Given the description of an element on the screen output the (x, y) to click on. 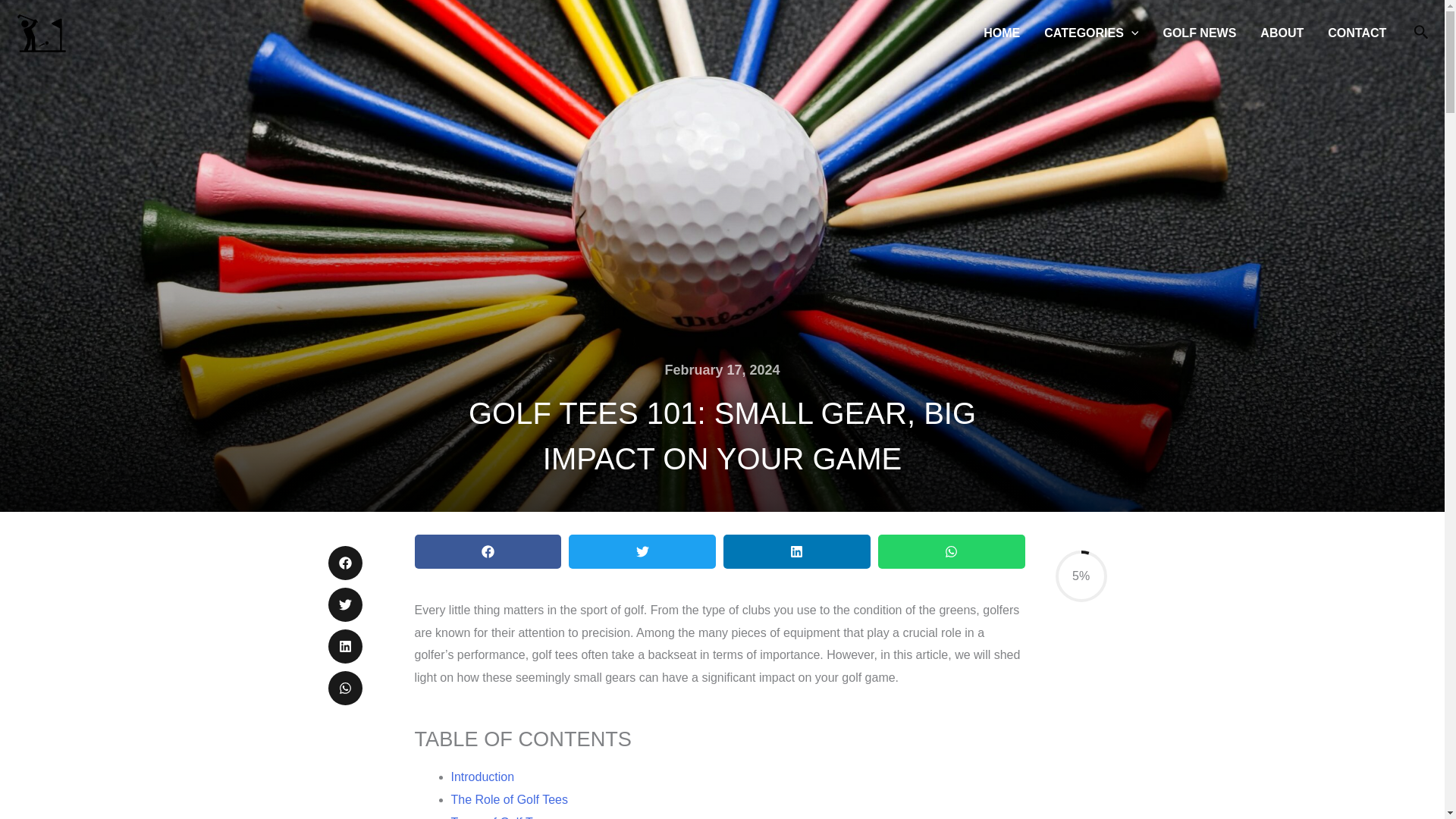
The Role of Golf Tees (508, 799)
Introduction (481, 776)
ABOUT (1281, 33)
HOME (1001, 33)
CATEGORIES (1091, 33)
GOLF NEWS (1198, 33)
Types of Golf Tees (499, 817)
CONTACT (1356, 33)
